Given the description of an element on the screen output the (x, y) to click on. 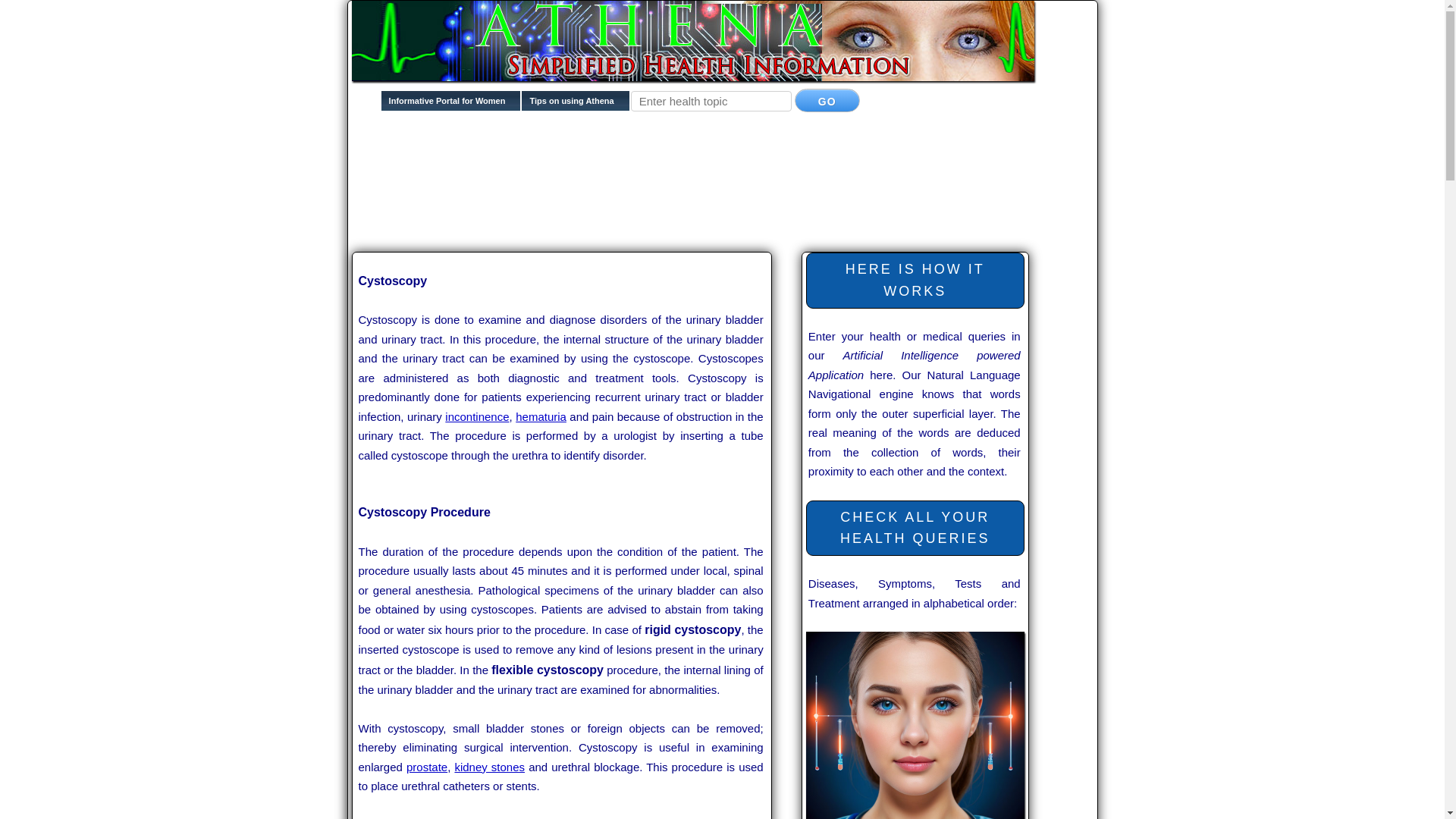
hematuria (540, 416)
Go (827, 100)
Tips on using TargetWoman Condensed Health Information Tool (574, 104)
incontinence (476, 416)
Advertisement (628, 222)
Go (827, 100)
prostate (426, 766)
Advertisement (628, 175)
Tips on using Athena (574, 104)
Information Portal for Women - Targetwoman (451, 104)
